Given the description of an element on the screen output the (x, y) to click on. 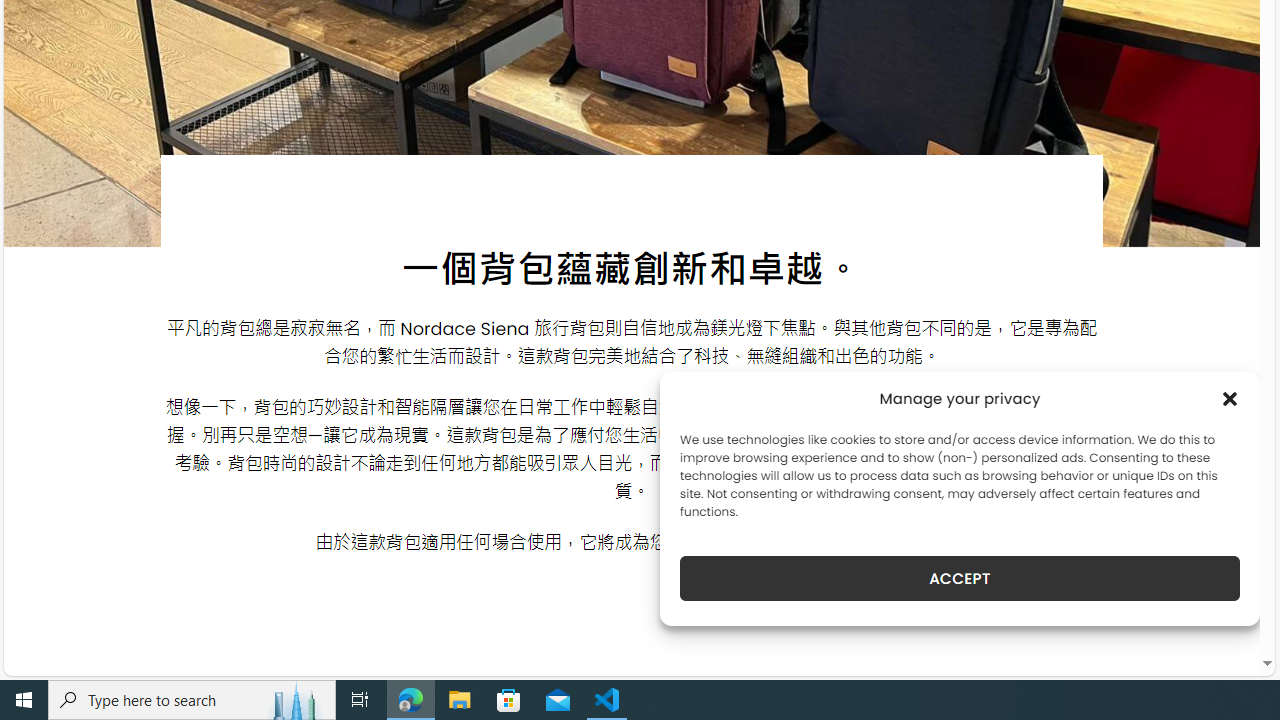
Class: cmplz-close (1229, 398)
ACCEPT (959, 578)
